Given the description of an element on the screen output the (x, y) to click on. 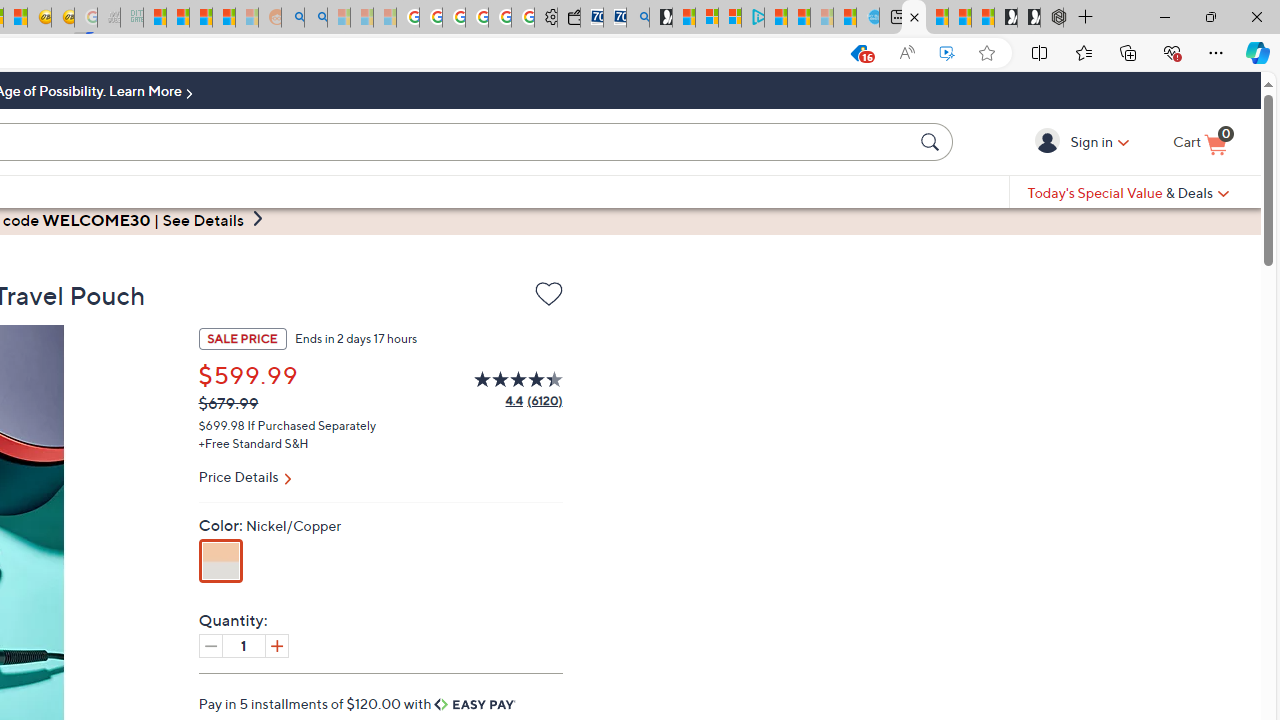
You have the best price! (858, 53)
Utah sues federal government - Search (315, 17)
